Given the description of an element on the screen output the (x, y) to click on. 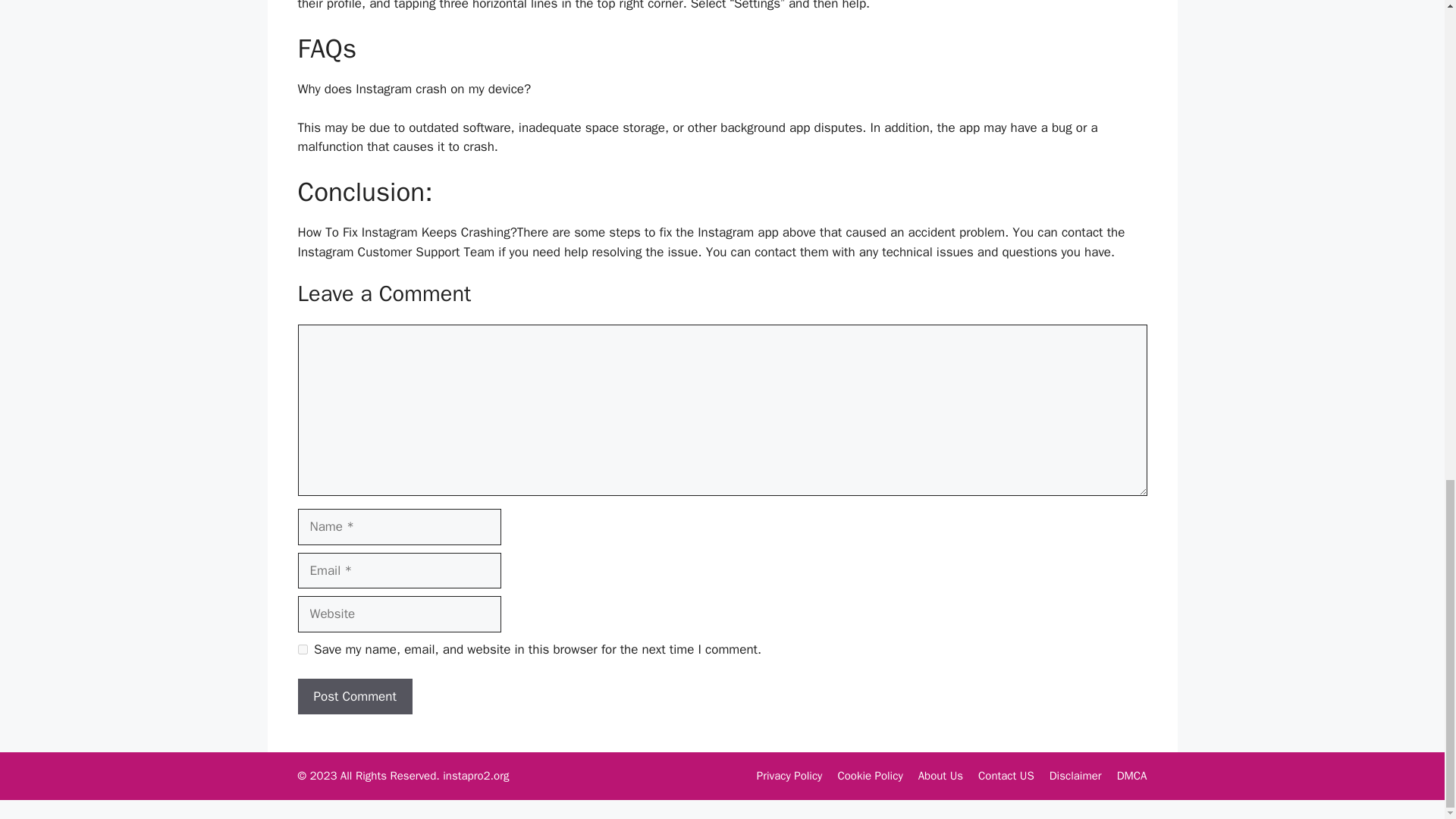
Contact US (1005, 775)
Post Comment (354, 696)
Post Comment (354, 696)
DMCA (1131, 775)
yes (302, 649)
Privacy Policy (789, 775)
Disclaimer (1075, 775)
Cookie Policy (869, 775)
About Us (940, 775)
